Given the description of an element on the screen output the (x, y) to click on. 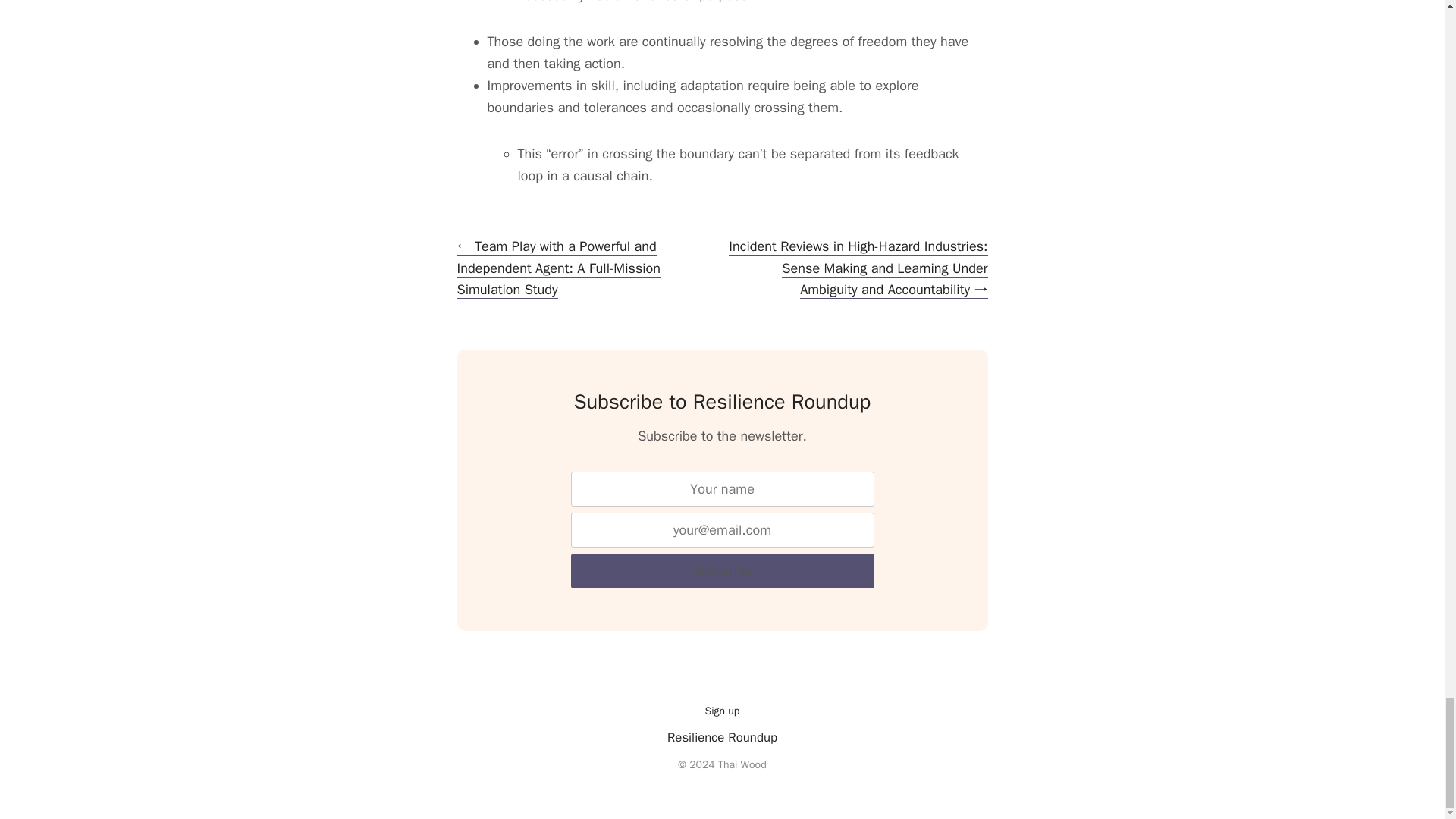
Subscribe (721, 570)
Resilience Roundup (721, 737)
Sign up (721, 710)
